Given the description of an element on the screen output the (x, y) to click on. 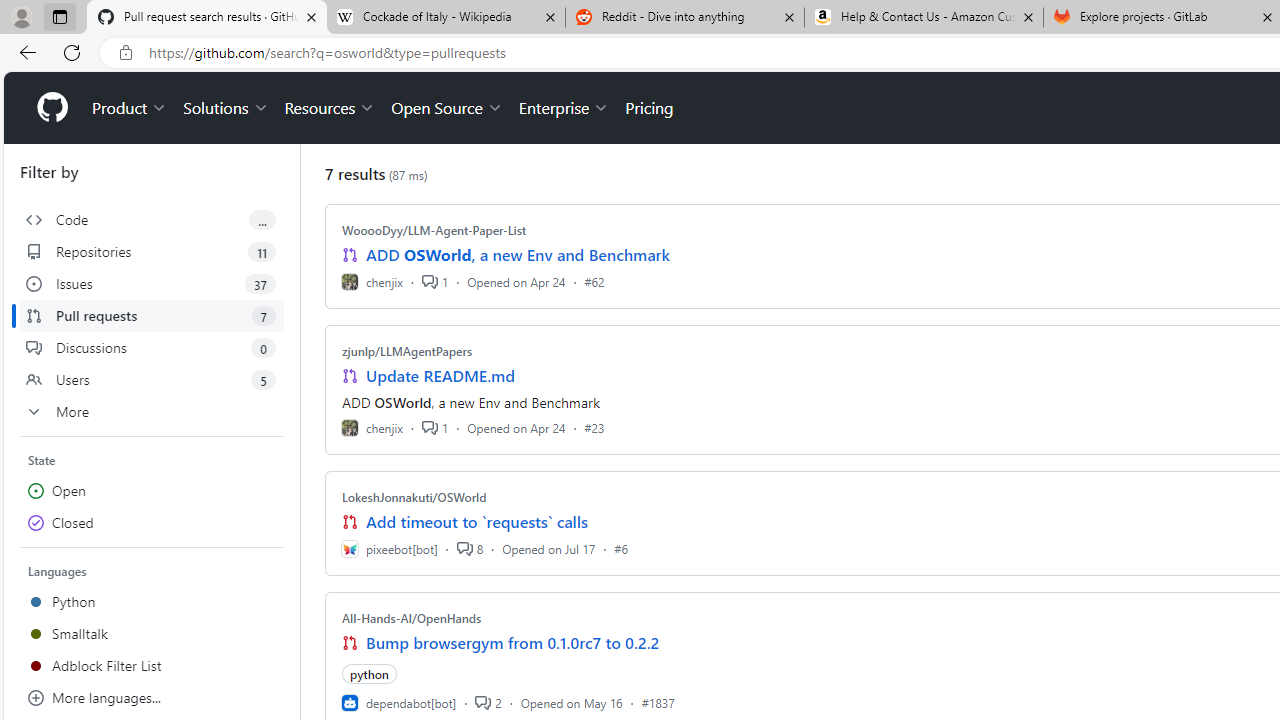
#1837 (657, 702)
Add timeout to `requests` calls (476, 521)
Product (130, 107)
1 (435, 427)
Open Source (446, 107)
Open Source (446, 107)
